Given the description of an element on the screen output the (x, y) to click on. 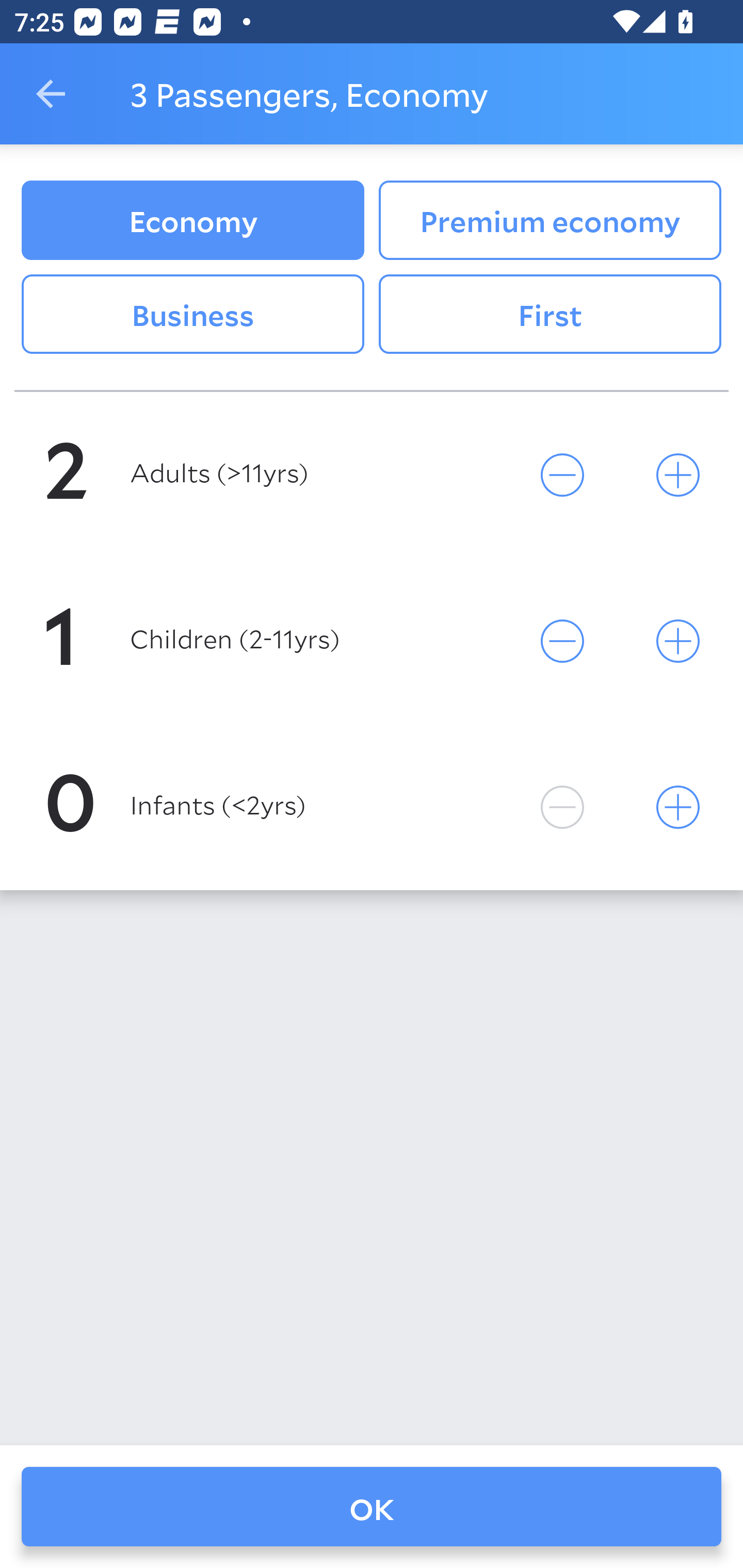
Navigate up (50, 93)
Economy (192, 220)
Premium economy (549, 220)
Business (192, 314)
First (549, 314)
OK (371, 1506)
